Given the description of an element on the screen output the (x, y) to click on. 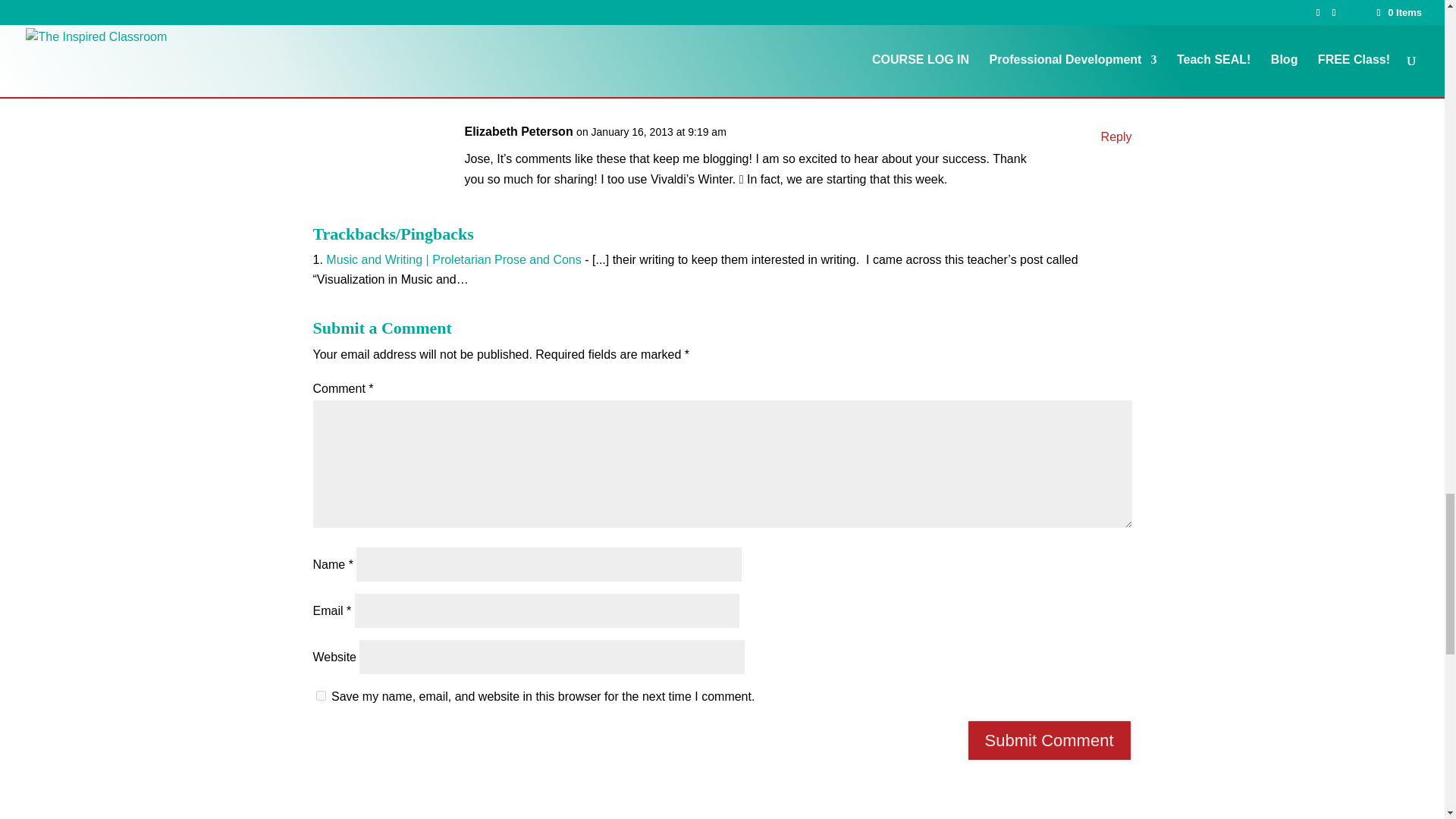
yes (319, 696)
Elizabeth Peterson (518, 131)
Reply (1116, 136)
Submit Comment (1049, 740)
Submit Comment (1049, 740)
